Given the description of an element on the screen output the (x, y) to click on. 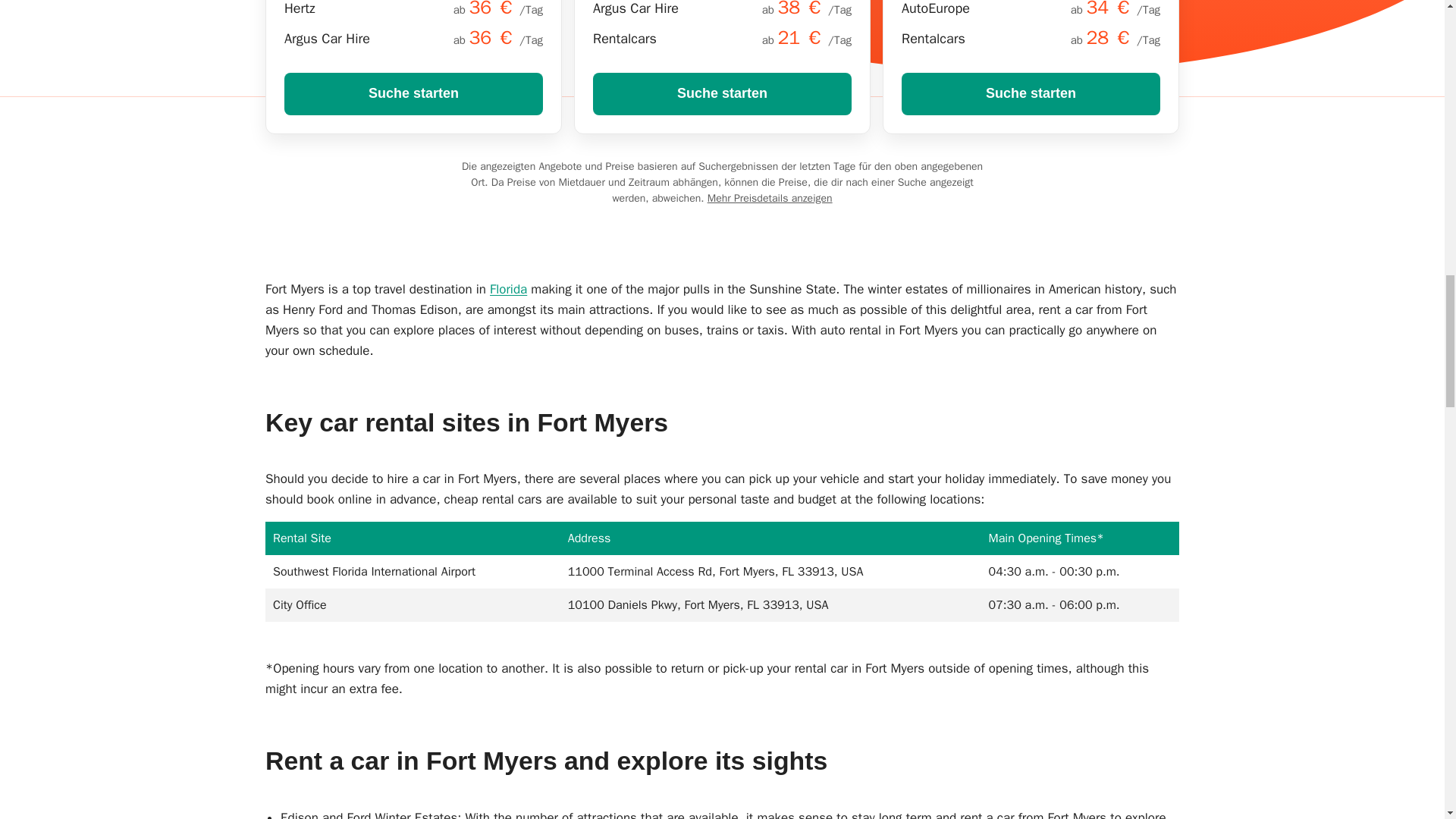
Suche starten (1030, 93)
Florida (508, 289)
Mehr Preisdetails anzeigen (769, 198)
Suche starten (413, 93)
Suche starten (721, 93)
